Given the description of an element on the screen output the (x, y) to click on. 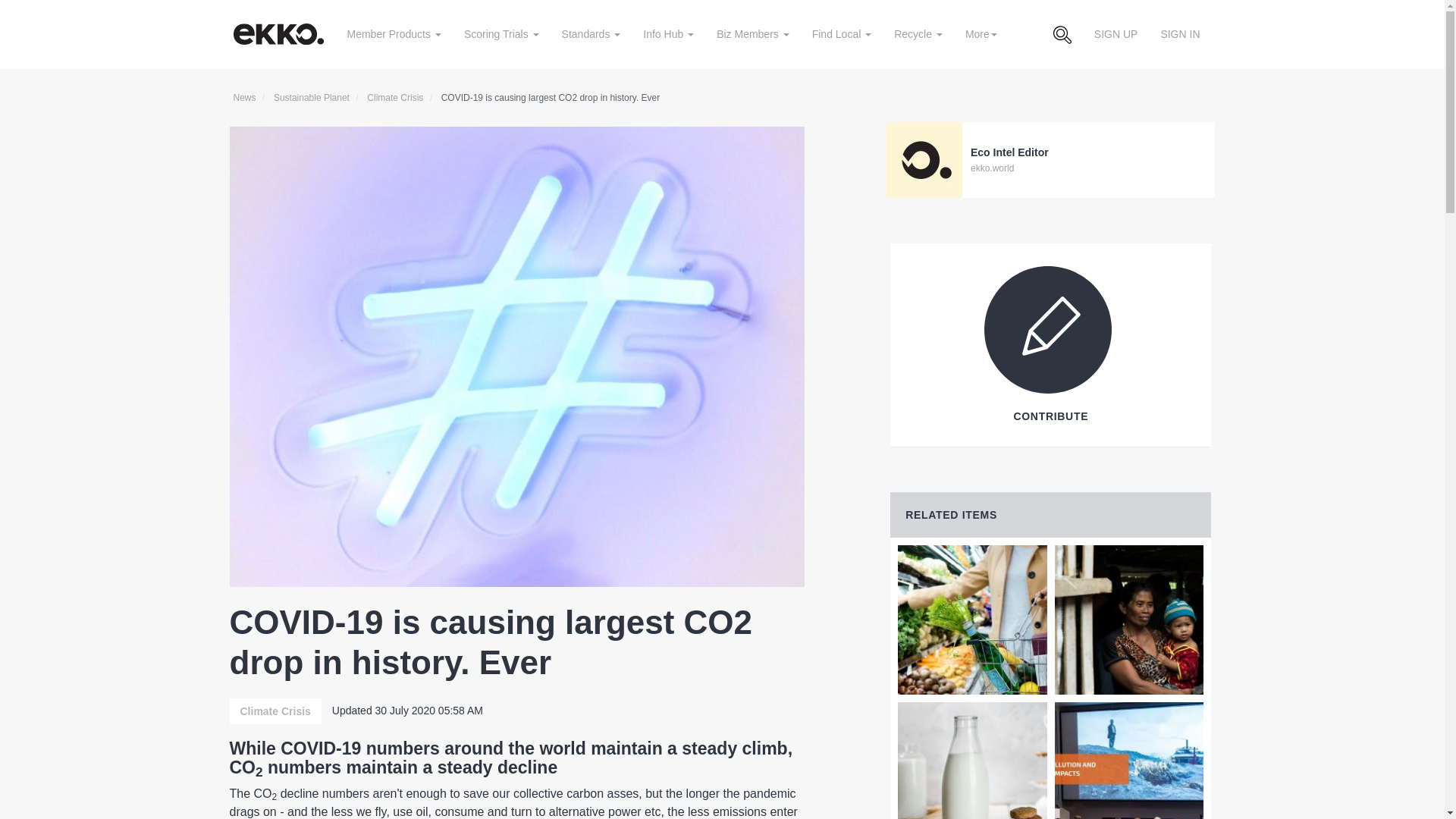
Member Products (392, 33)
Skip to main content (10, 10)
Info Hub (667, 33)
Ekko (281, 33)
Standards (590, 33)
Scoring Trials (501, 33)
